Given the description of an element on the screen output the (x, y) to click on. 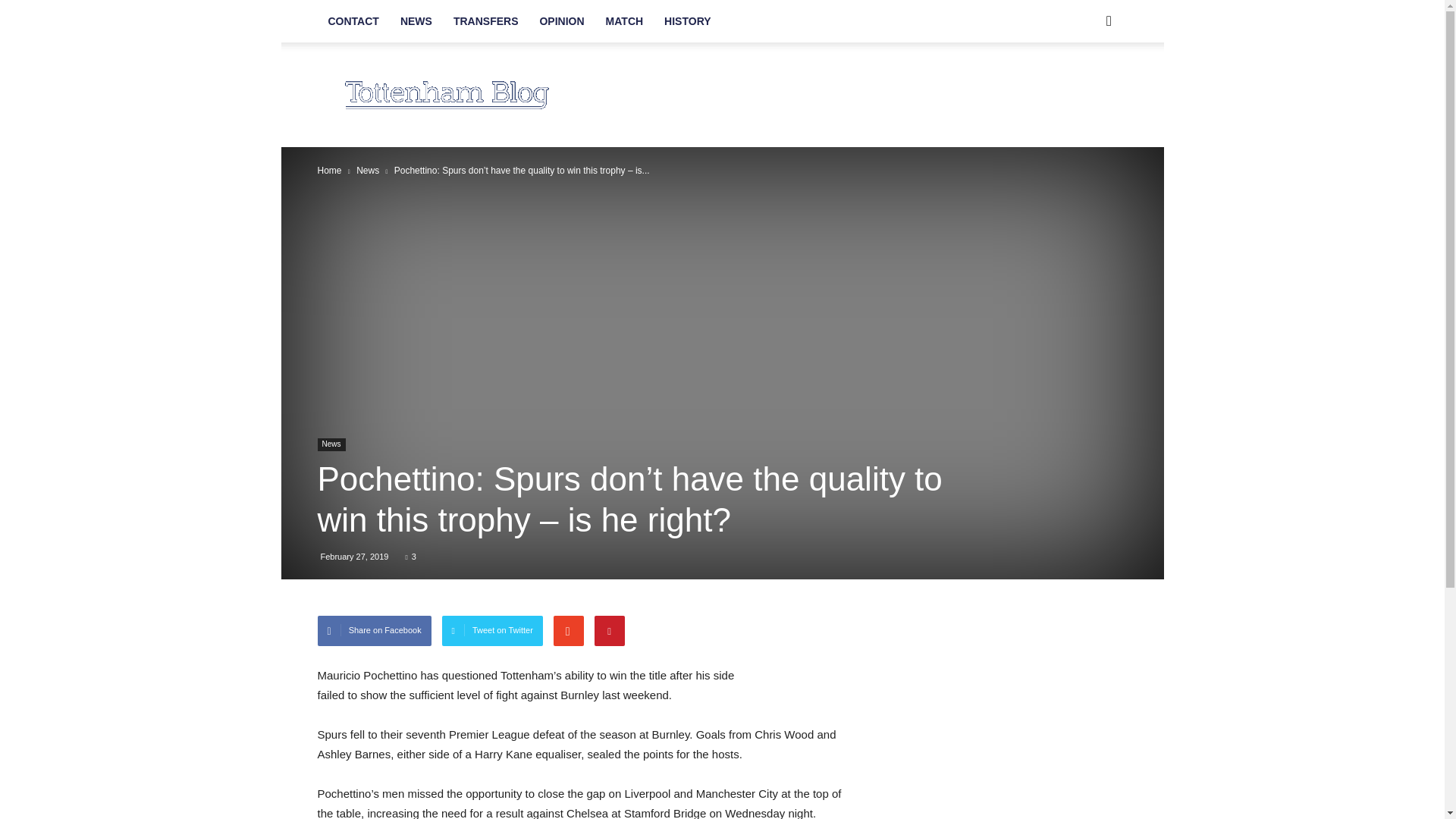
HISTORY (686, 21)
View all posts in News (367, 170)
3 (409, 556)
TRANSFERS (485, 21)
CONTACT (352, 21)
OPINION (561, 21)
News (367, 170)
MATCH (624, 21)
Tweet on Twitter (492, 630)
NEWS (416, 21)
Share on Facebook (373, 630)
Home (328, 170)
News (331, 444)
